Given the description of an element on the screen output the (x, y) to click on. 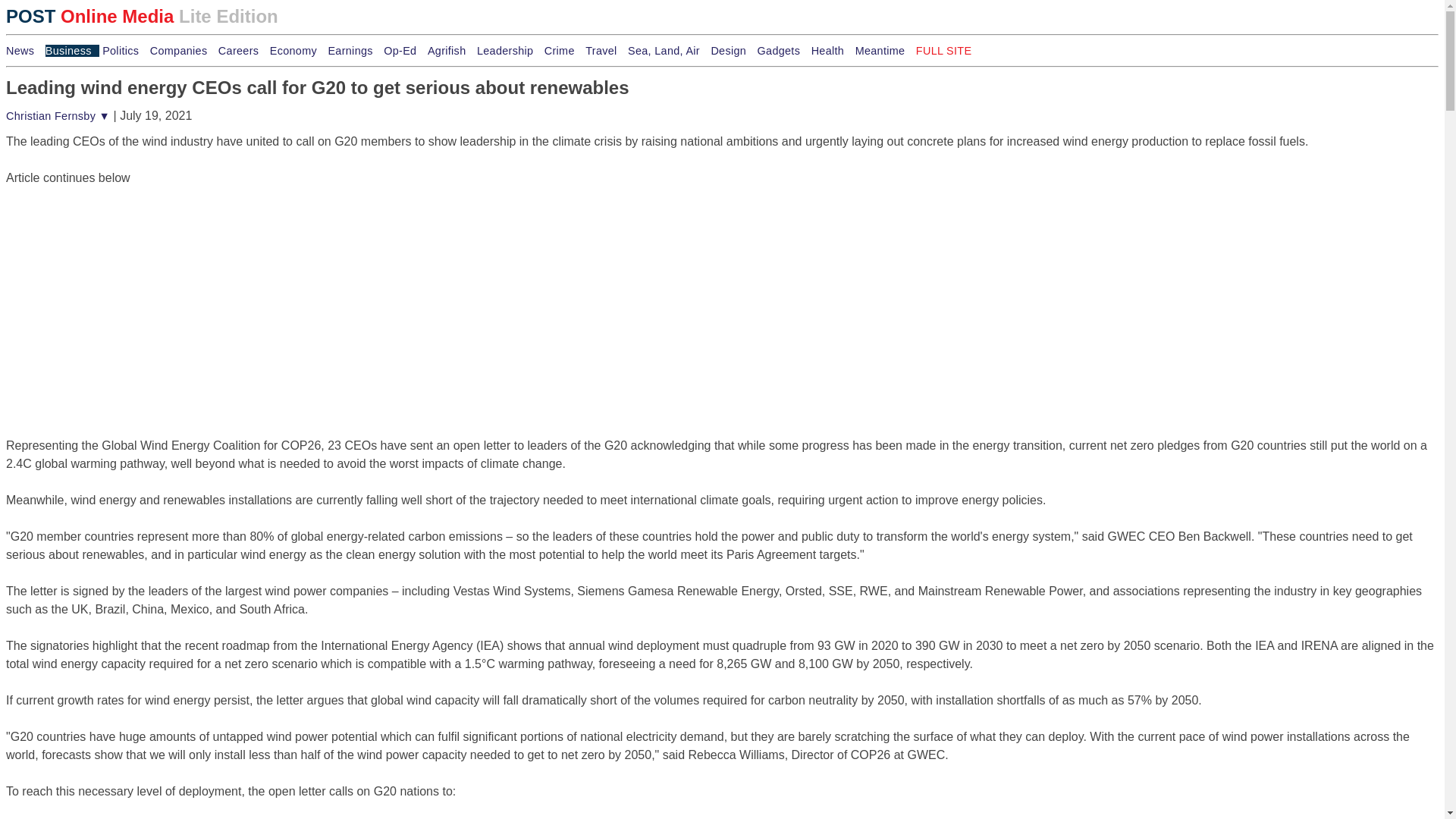
Meantime (884, 50)
Leadership (508, 50)
Economy (296, 50)
Gadgets (782, 50)
News (23, 50)
POST Online Media (943, 50)
Earnings (353, 50)
Agrifish (451, 50)
Sea, Land, Air (667, 50)
Business (72, 50)
